Given the description of an element on the screen output the (x, y) to click on. 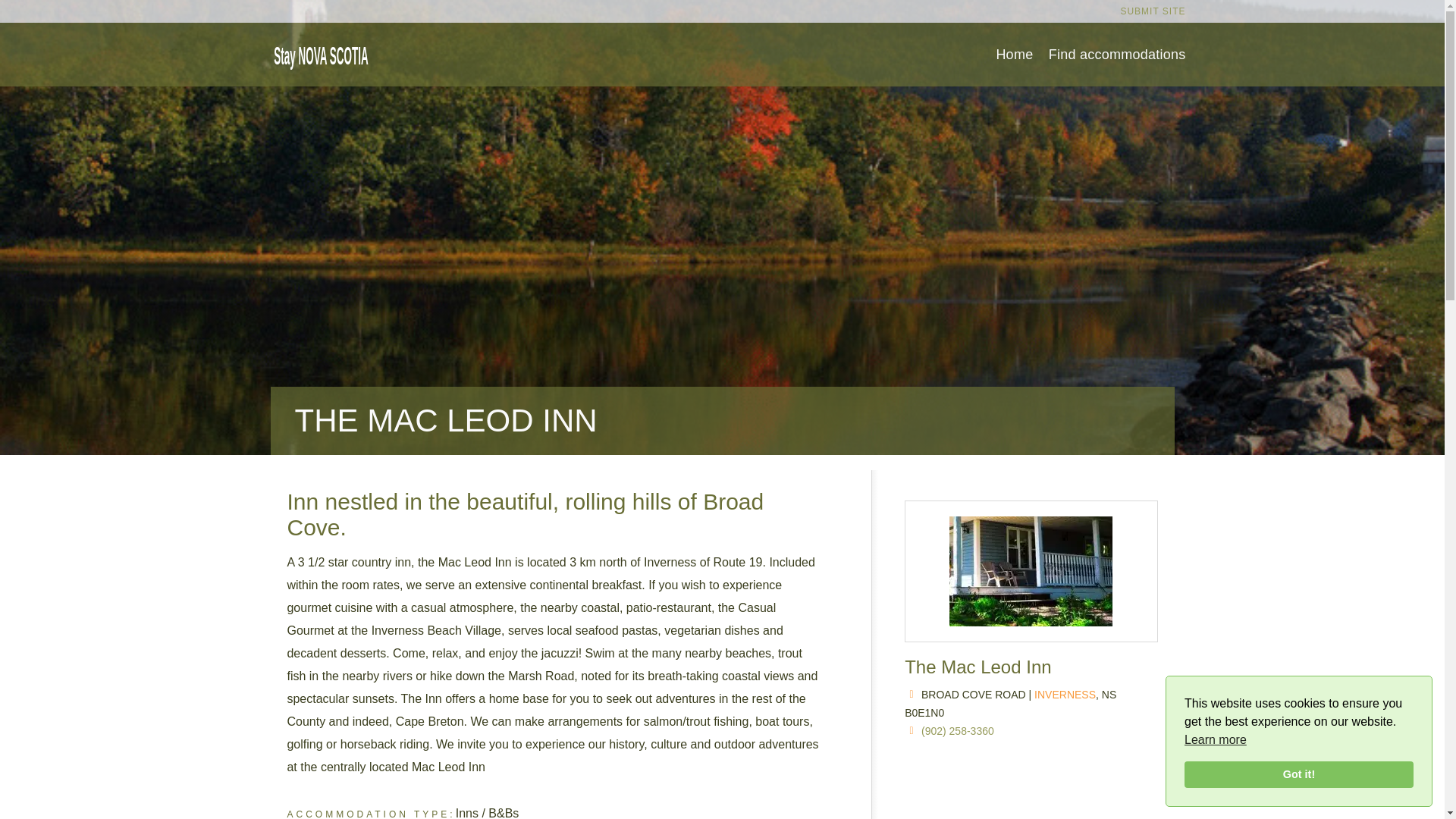
Home (1013, 54)
SUBMIT SITE (1152, 10)
INVERNESS (1064, 694)
Find accommodations (1117, 54)
Learn more (1215, 740)
Got it! (1299, 774)
